Given the description of an element on the screen output the (x, y) to click on. 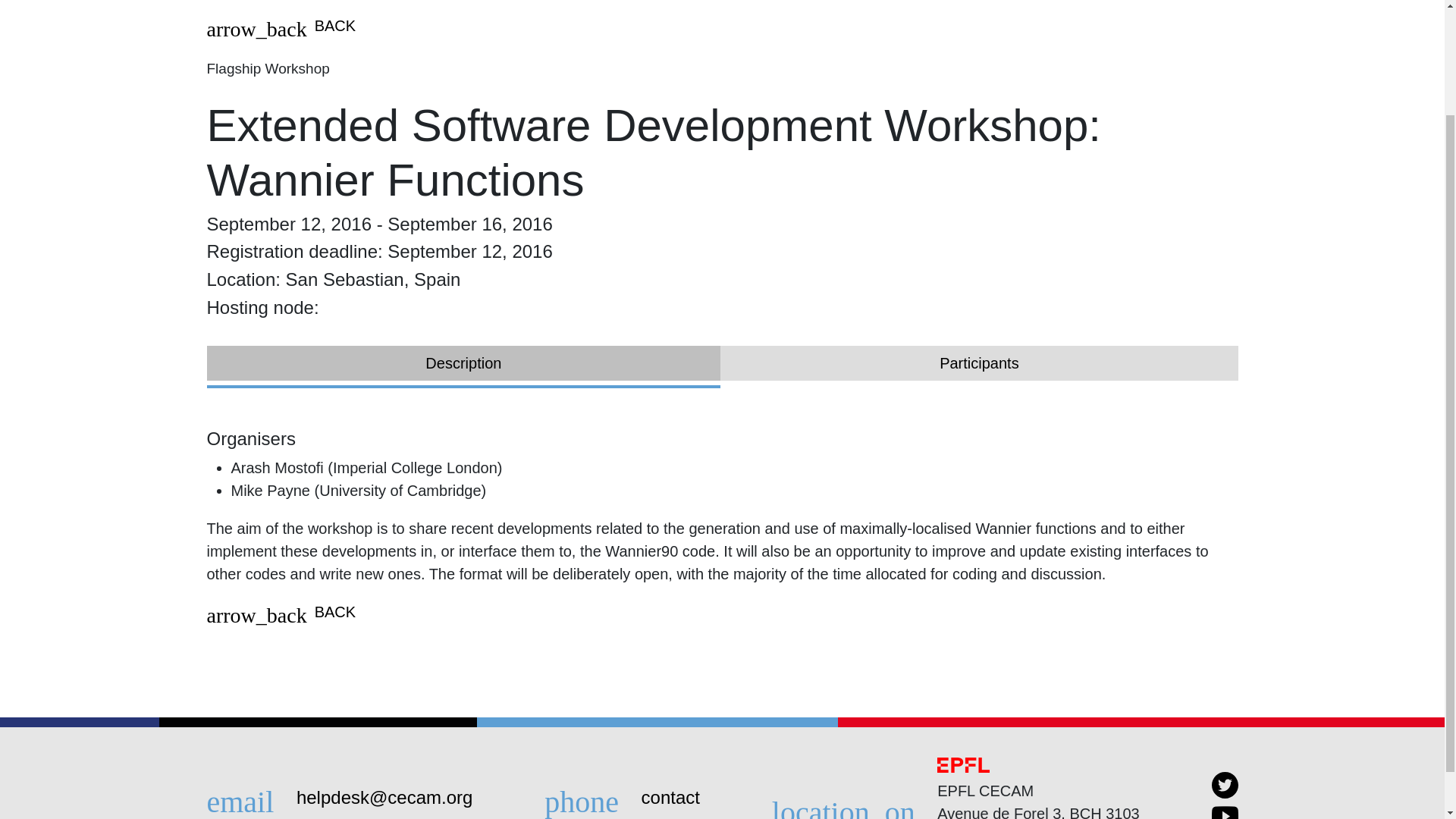
Participants (978, 362)
email (249, 797)
Description (463, 362)
contact (671, 797)
phone (590, 797)
